Given the description of an element on the screen output the (x, y) to click on. 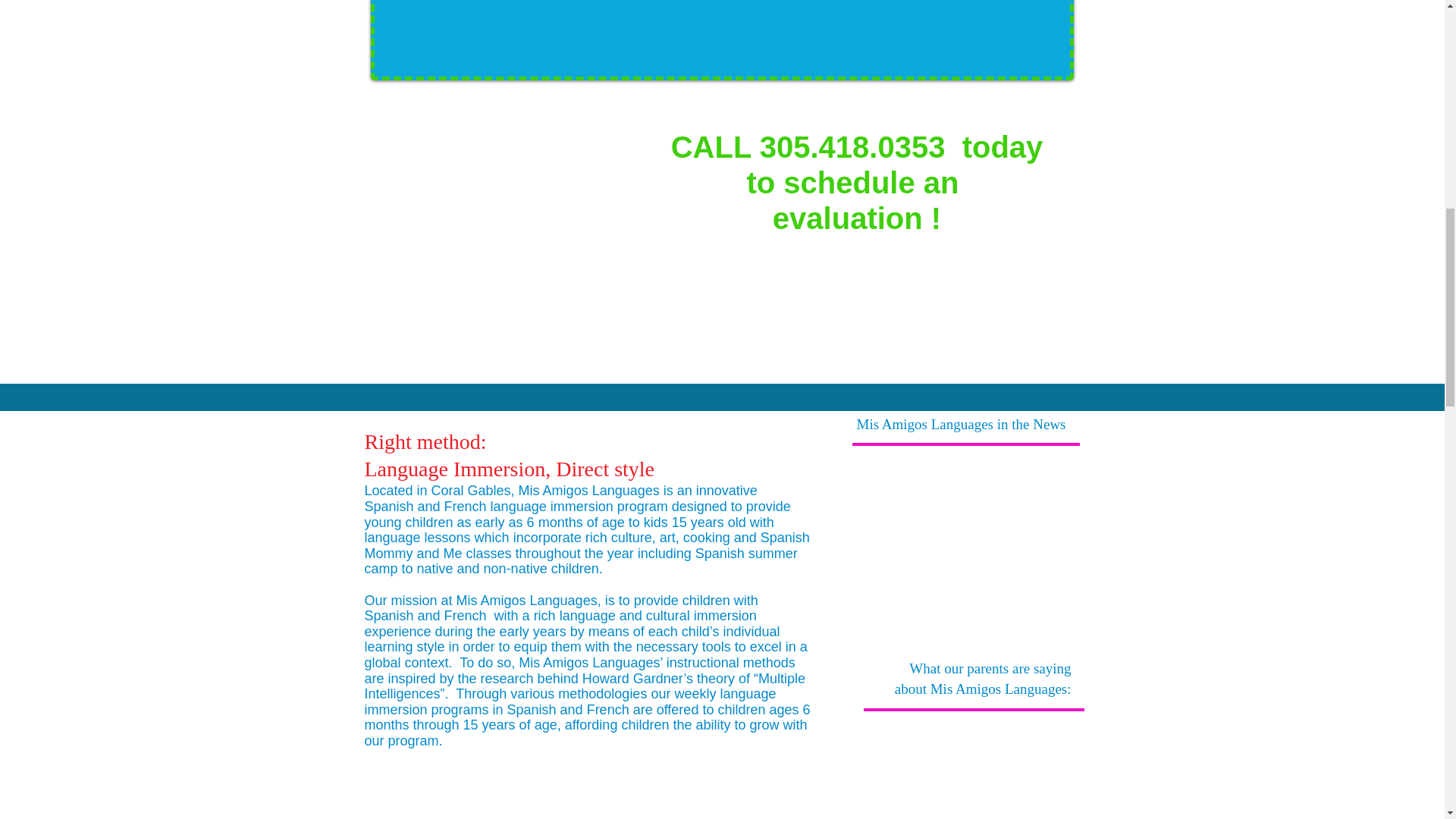
External YouTube (974, 768)
External YouTube (968, 535)
